Given the description of an element on the screen output the (x, y) to click on. 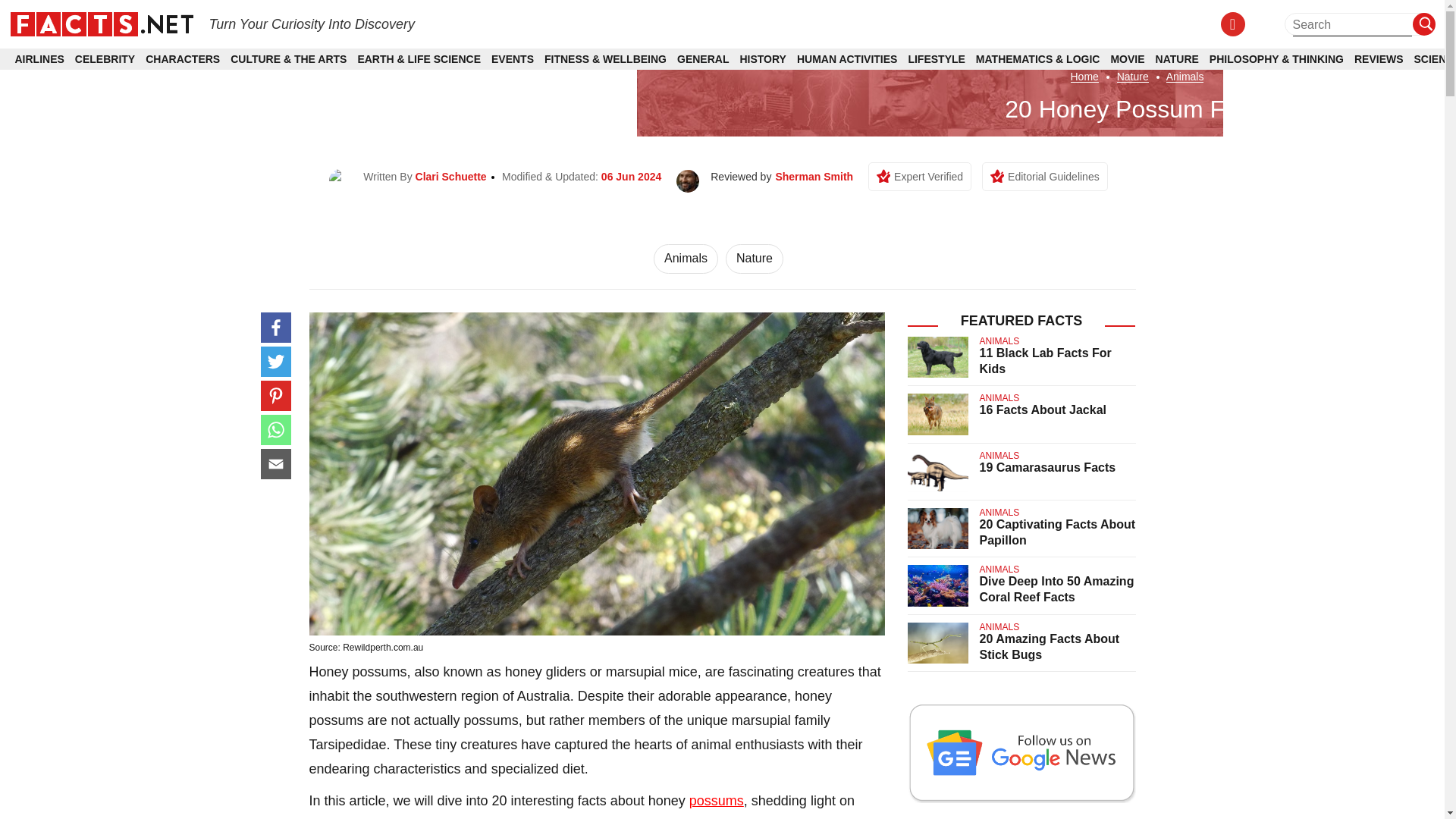
EVENTS (513, 59)
HISTORY (762, 59)
AIRLINES (39, 59)
Facts.net (100, 23)
CELEBRITY (105, 59)
incredible agility (713, 818)
CHARACTERS (182, 59)
HUMAN ACTIVITIES (846, 59)
GENERAL (703, 59)
LIFESTYLE (935, 59)
